Given the description of an element on the screen output the (x, y) to click on. 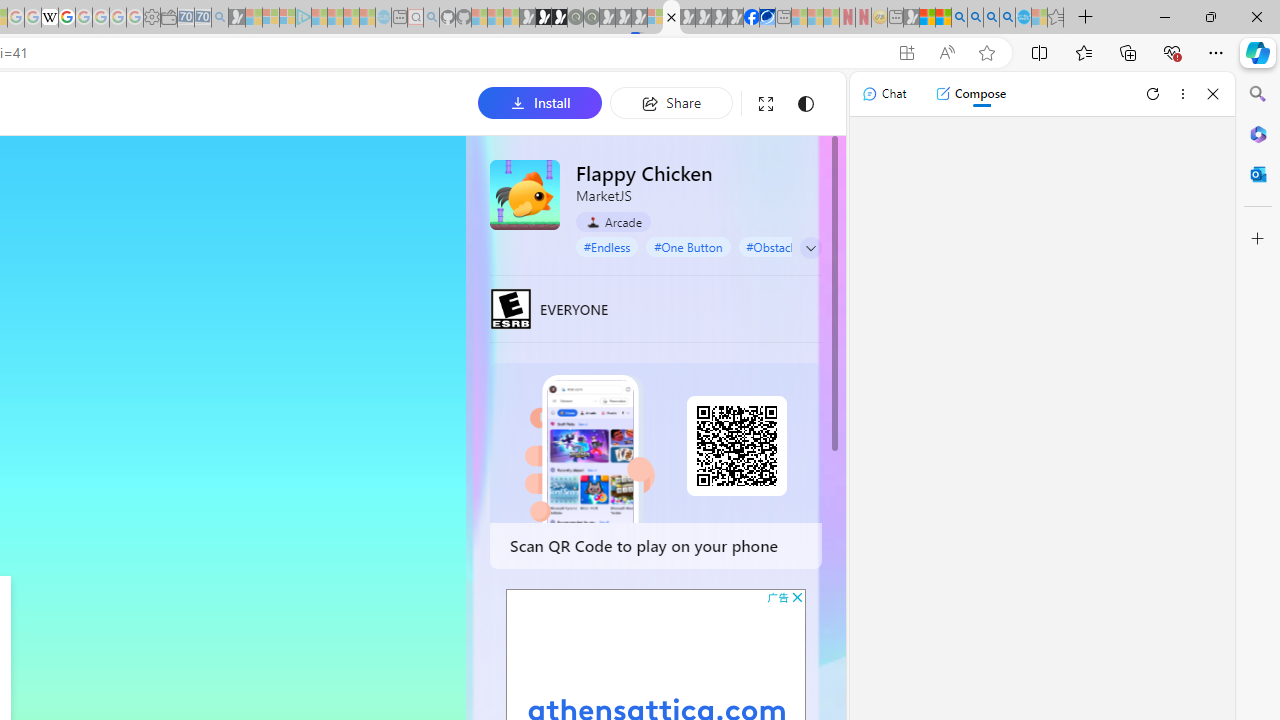
Full screen (765, 103)
#Endless (607, 246)
